Given the description of an element on the screen output the (x, y) to click on. 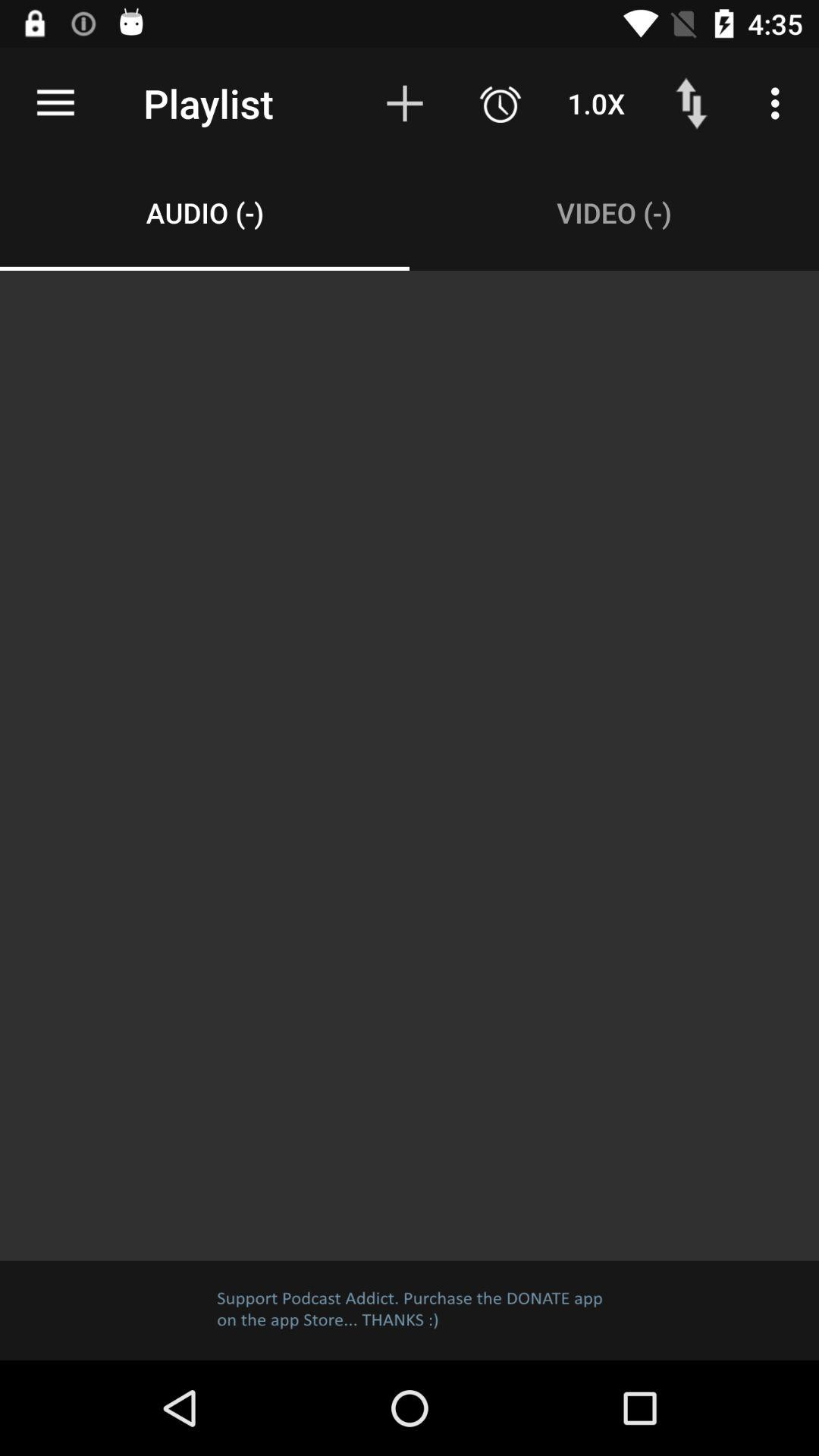
turn on item next to playlist icon (55, 103)
